Given the description of an element on the screen output the (x, y) to click on. 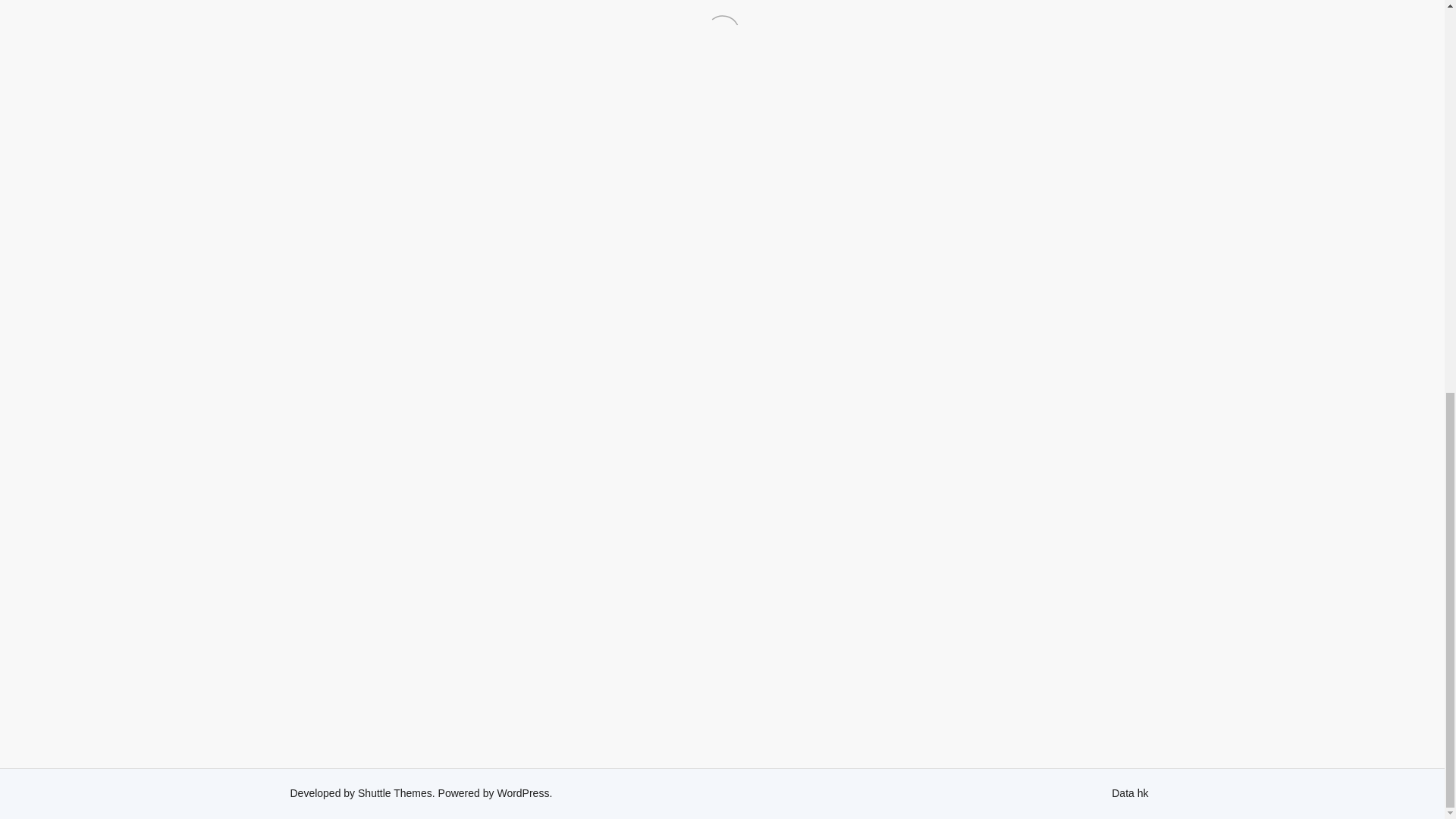
Data hk (1129, 793)
WordPress (522, 793)
NEXT (1074, 703)
PREV (369, 703)
Shuttle Themes (395, 793)
